Given the description of an element on the screen output the (x, y) to click on. 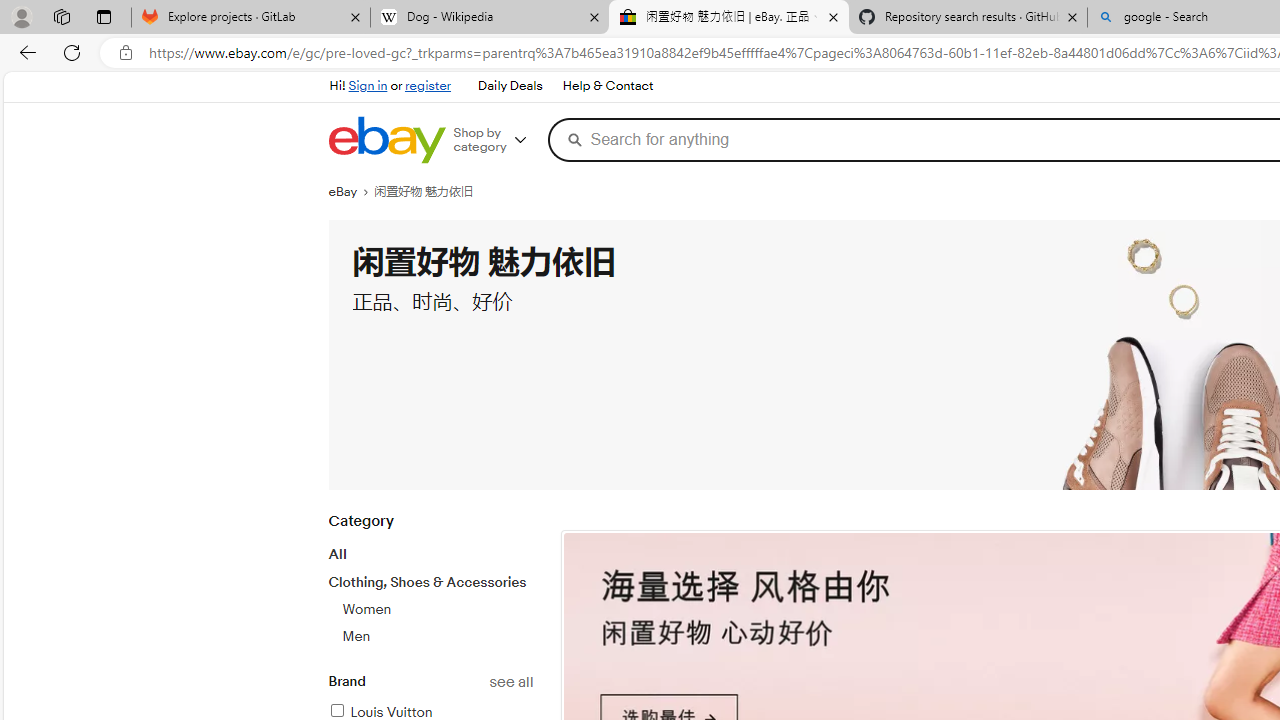
Women (366, 609)
